Given the description of an element on the screen output the (x, y) to click on. 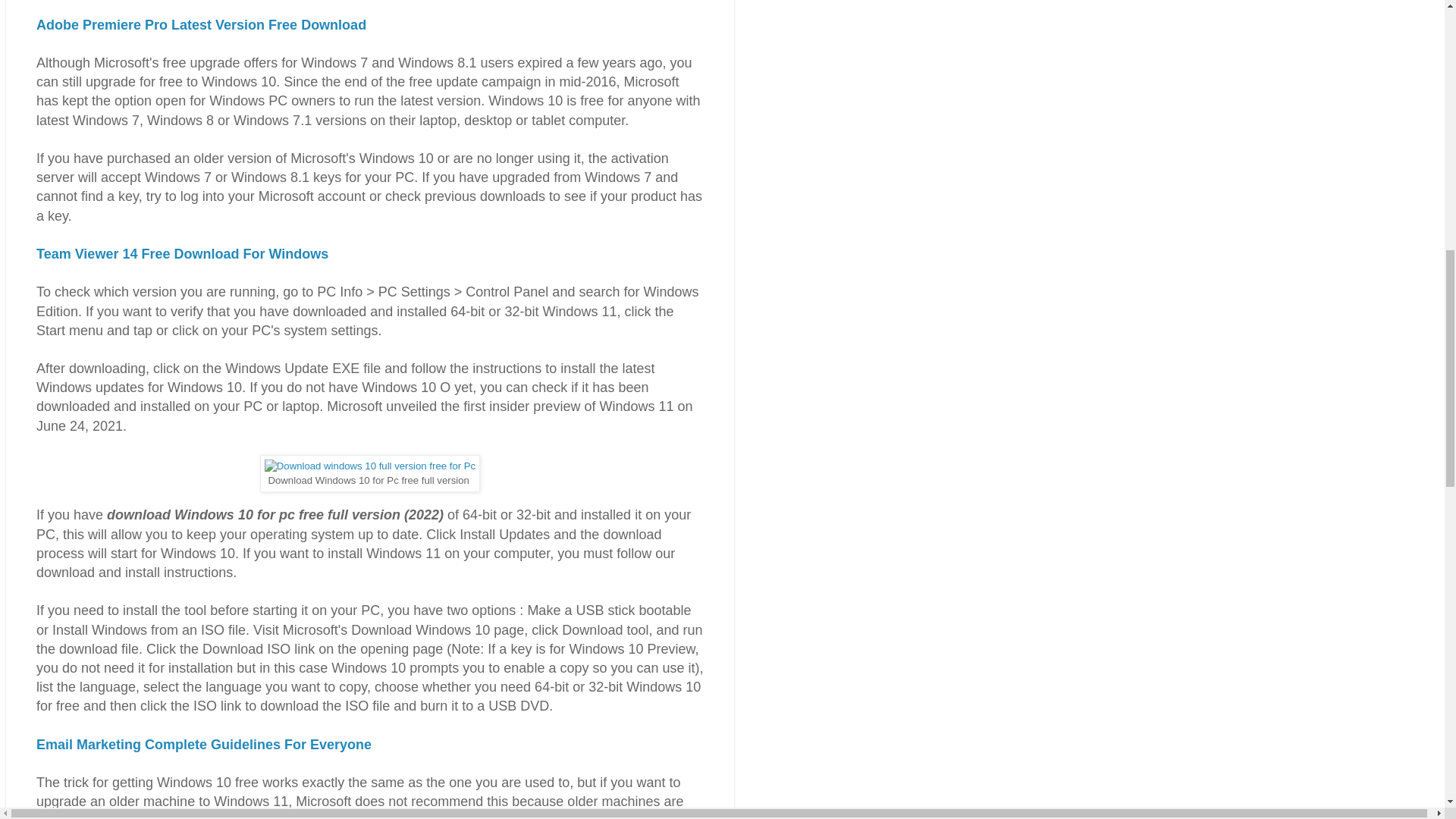
Team Viewer 14 Free Download For Windows (182, 253)
Download windows 10 for Pc free full version (370, 466)
Email Marketing Complete Guidelines For Everyone (203, 744)
Adobe Premiere Pro Latest Version Free Download (201, 24)
